Given the description of an element on the screen output the (x, y) to click on. 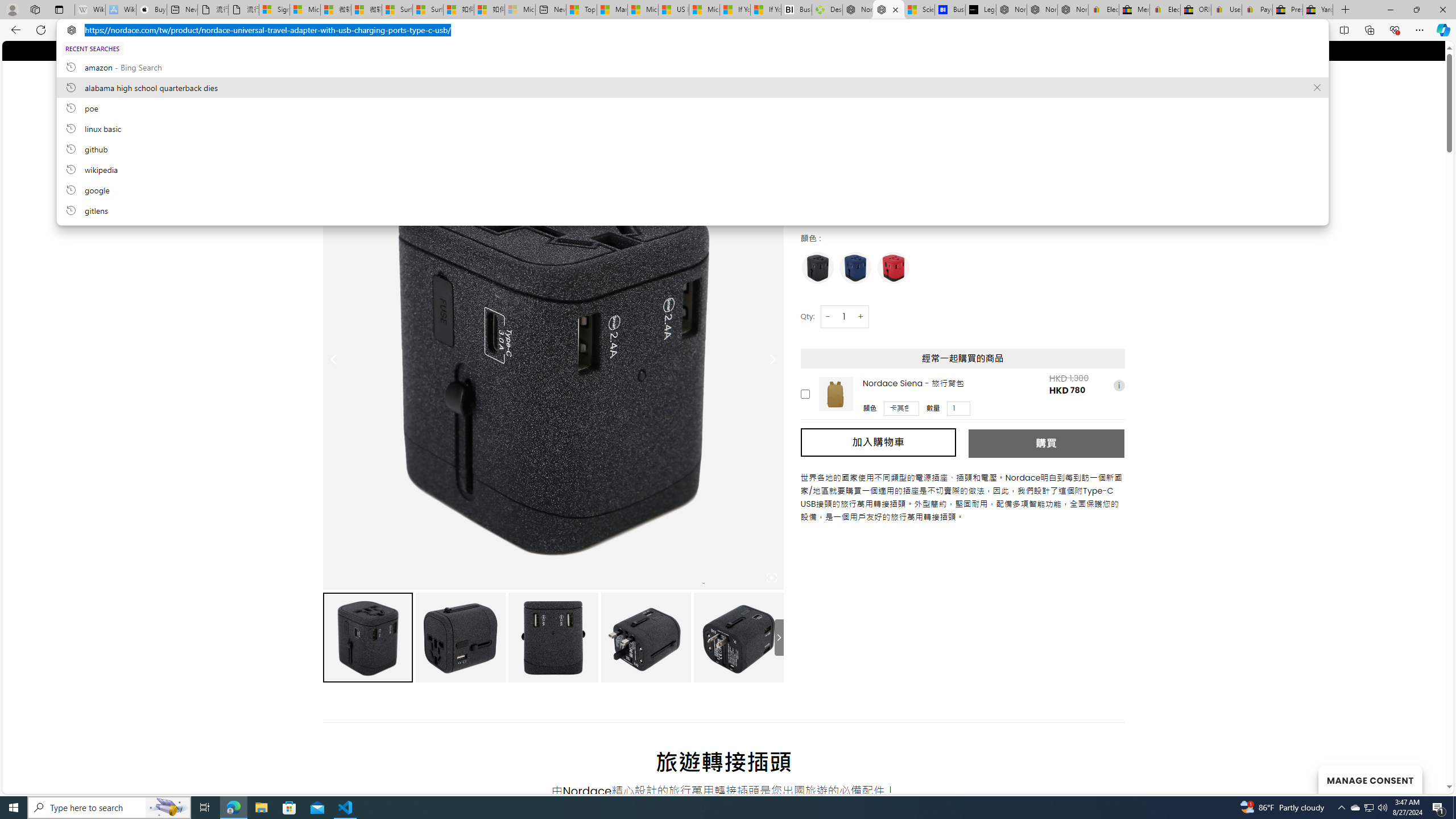
i (1118, 385)
Nordace - Summer Adventures 2024 (857, 9)
poe, recent searches from history (691, 107)
gitlens, recent searches from history (691, 209)
Top Stories - MSN (581, 9)
